Given the description of an element on the screen output the (x, y) to click on. 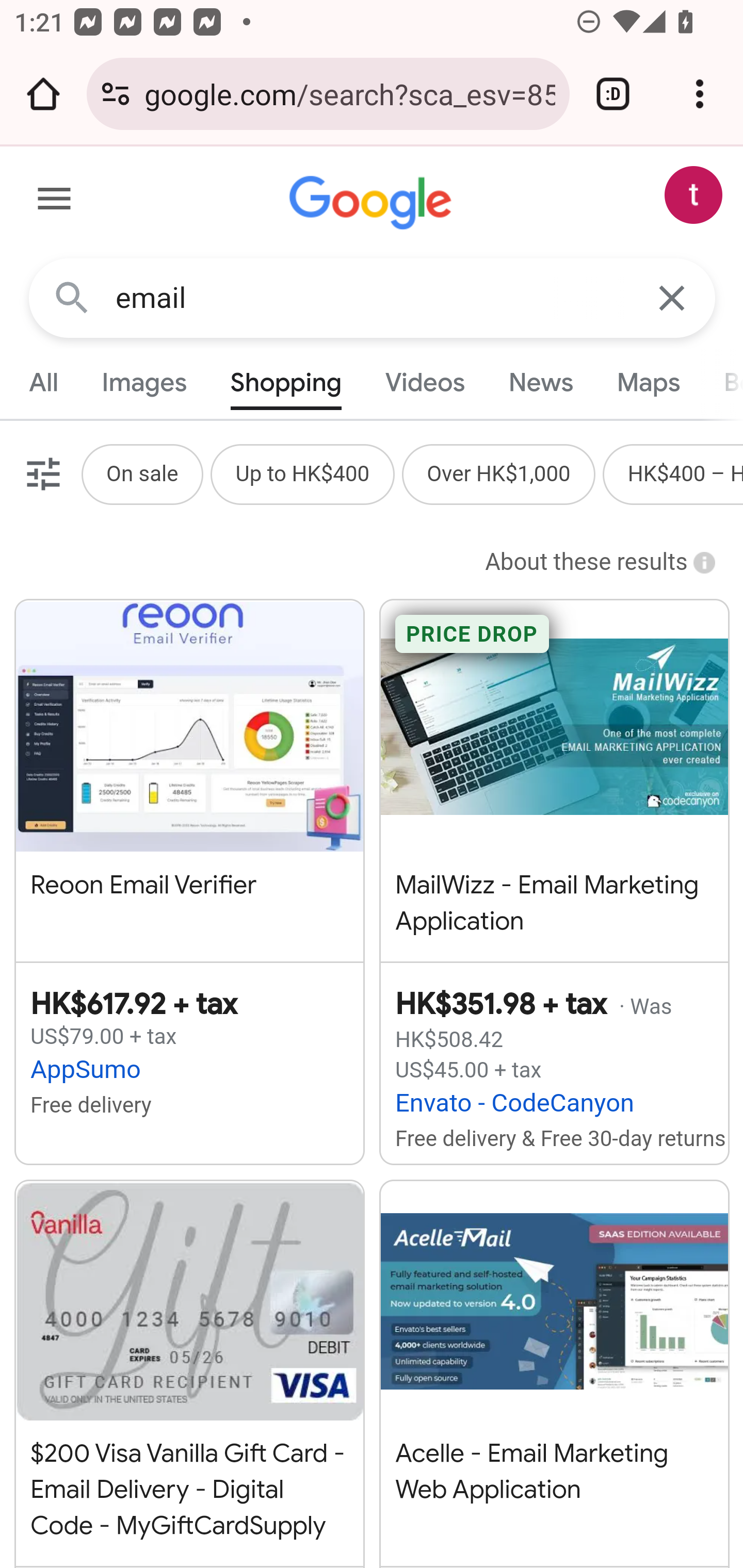
Open the home page (43, 93)
Connection is secure (115, 93)
Switch or close tabs (612, 93)
Customize and control Google Chrome (699, 93)
Main menu (54, 202)
Google (372, 203)
Google Search (71, 296)
Clear Search (672, 296)
email (372, 297)
All (43, 382)
Images (144, 382)
Videos (424, 382)
News (540, 382)
Maps (647, 382)
Filters.0 filters applied. (41, 473)
On sale (141, 473)
Up to HK$400 (302, 473)
Over HK$1,000 (498, 473)
HK$400 – HK$1,000 (684, 473)
Reoon Email Verifier (189, 769)
Acelle - Email Marketing Web Application (553, 1363)
